Given the description of an element on the screen output the (x, y) to click on. 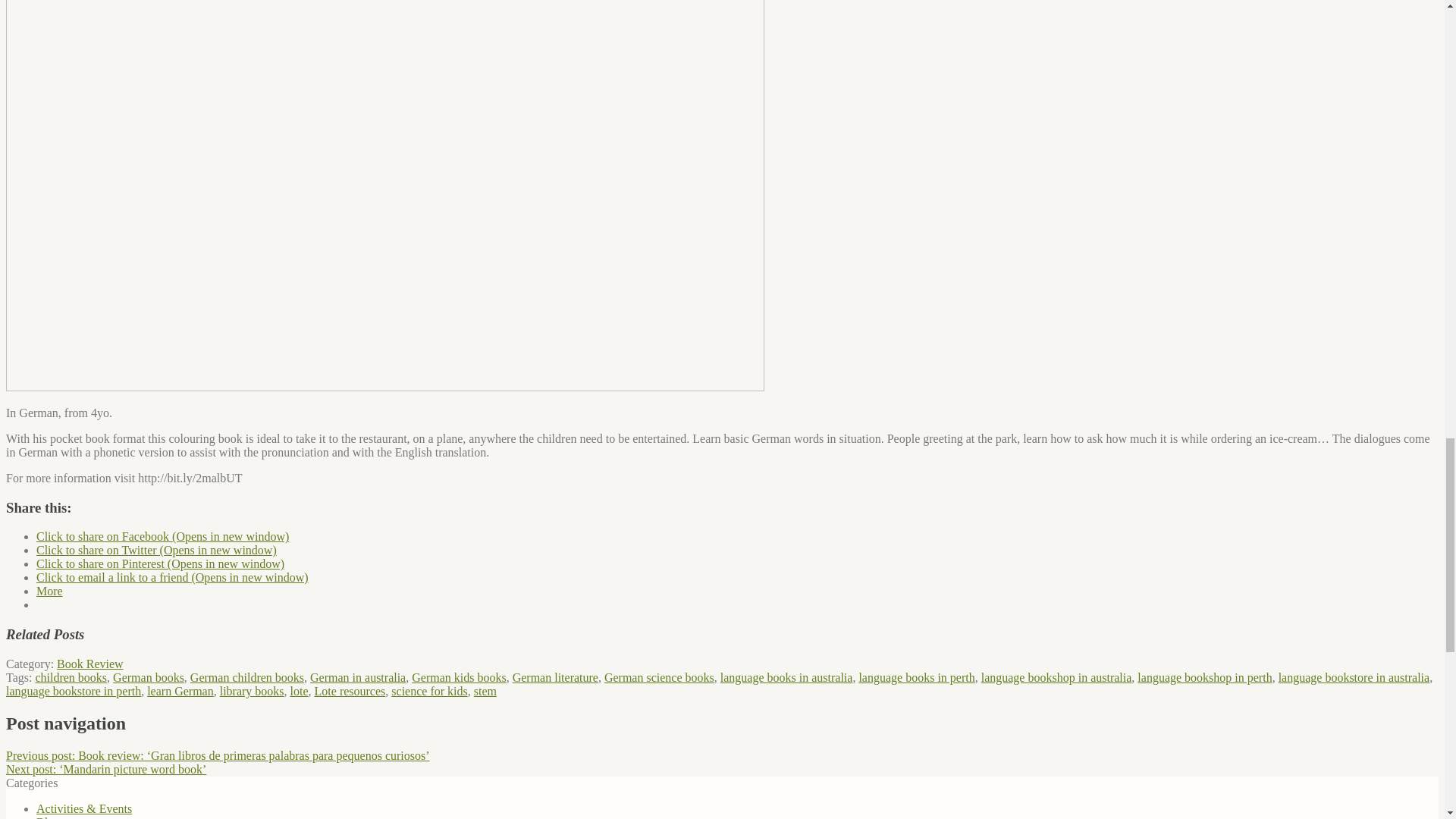
Click to share on Twitter (156, 549)
Click to share on Facebook (162, 535)
Click to email a link to a friend (172, 576)
Click to share on Pinterest (159, 563)
